Given the description of an element on the screen output the (x, y) to click on. 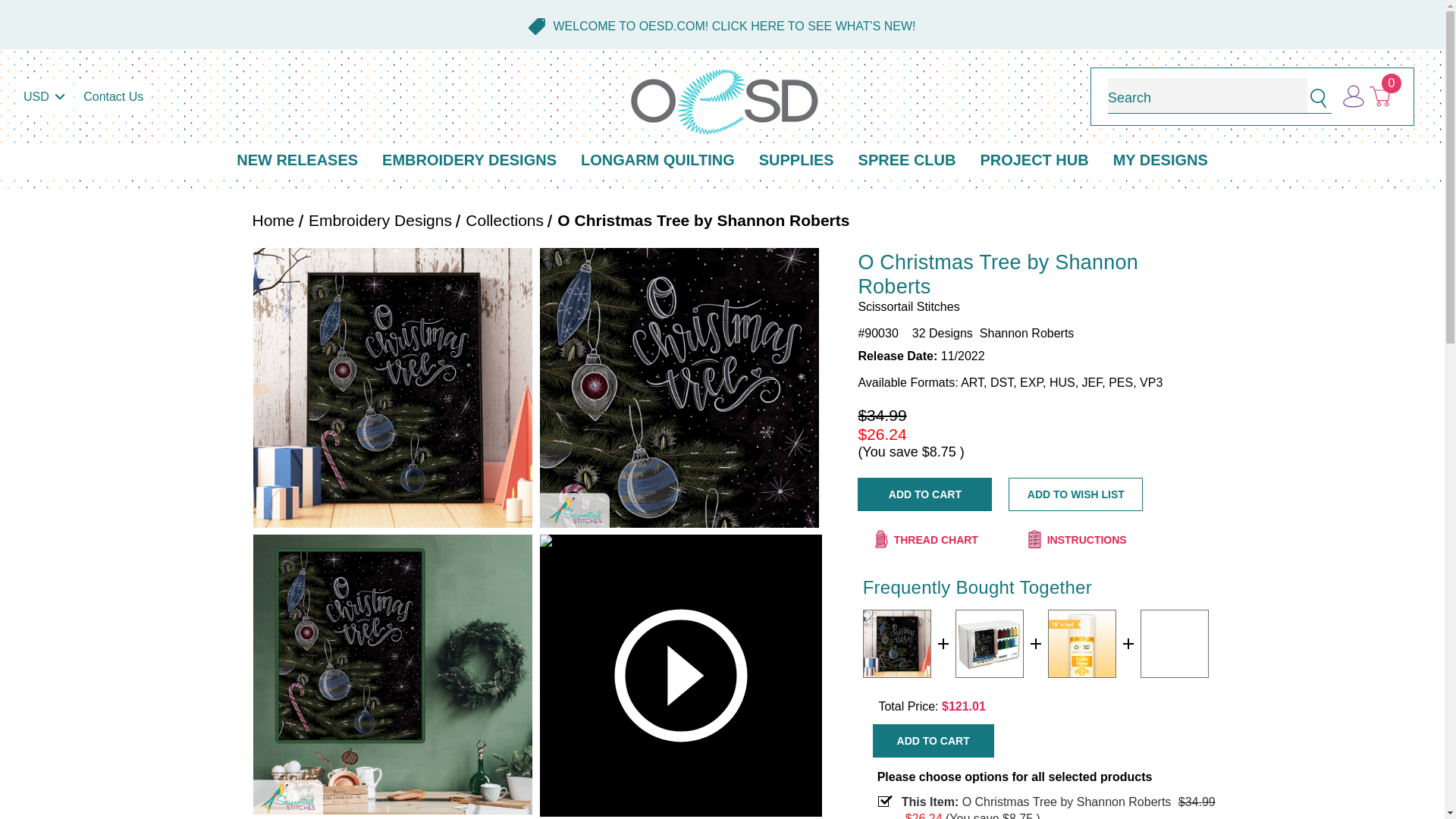
O Christmas Tree by Shannon Roberts (896, 643)
Contact Us (113, 96)
EMBROIDERY DESIGNS (469, 160)
O Christmas Tree by Shannon Roberts (392, 387)
NEW RELEASES (296, 160)
Add to Cart (924, 494)
O Christmas Tree by Shannon Roberts (679, 387)
O Christmas Tree by Shannon Roberts (392, 674)
USD (44, 96)
OESD.com (725, 101)
